Given the description of an element on the screen output the (x, y) to click on. 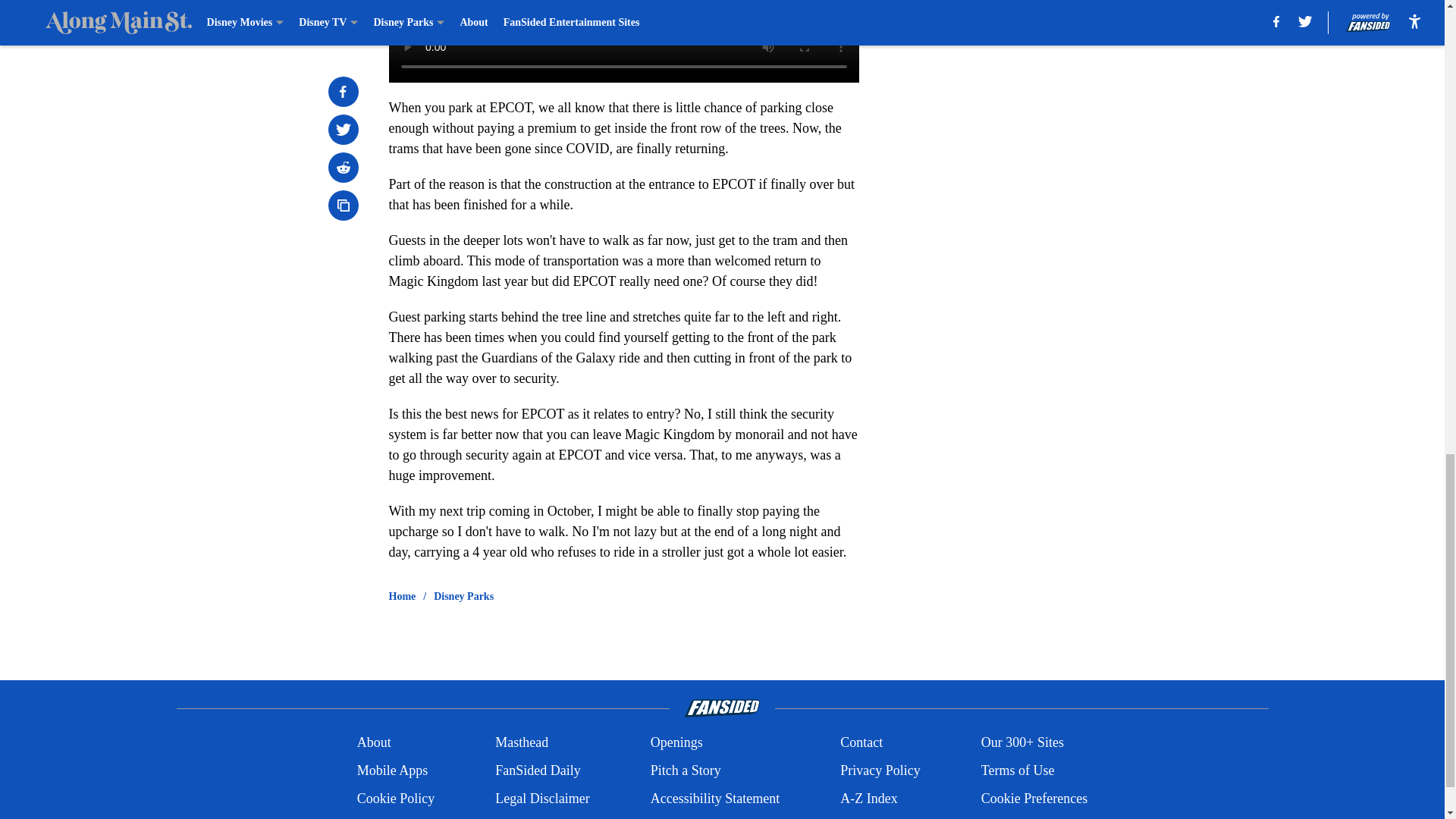
Home (401, 596)
About (373, 742)
Disney Parks (463, 596)
Openings (676, 742)
Masthead (521, 742)
